Given the description of an element on the screen output the (x, y) to click on. 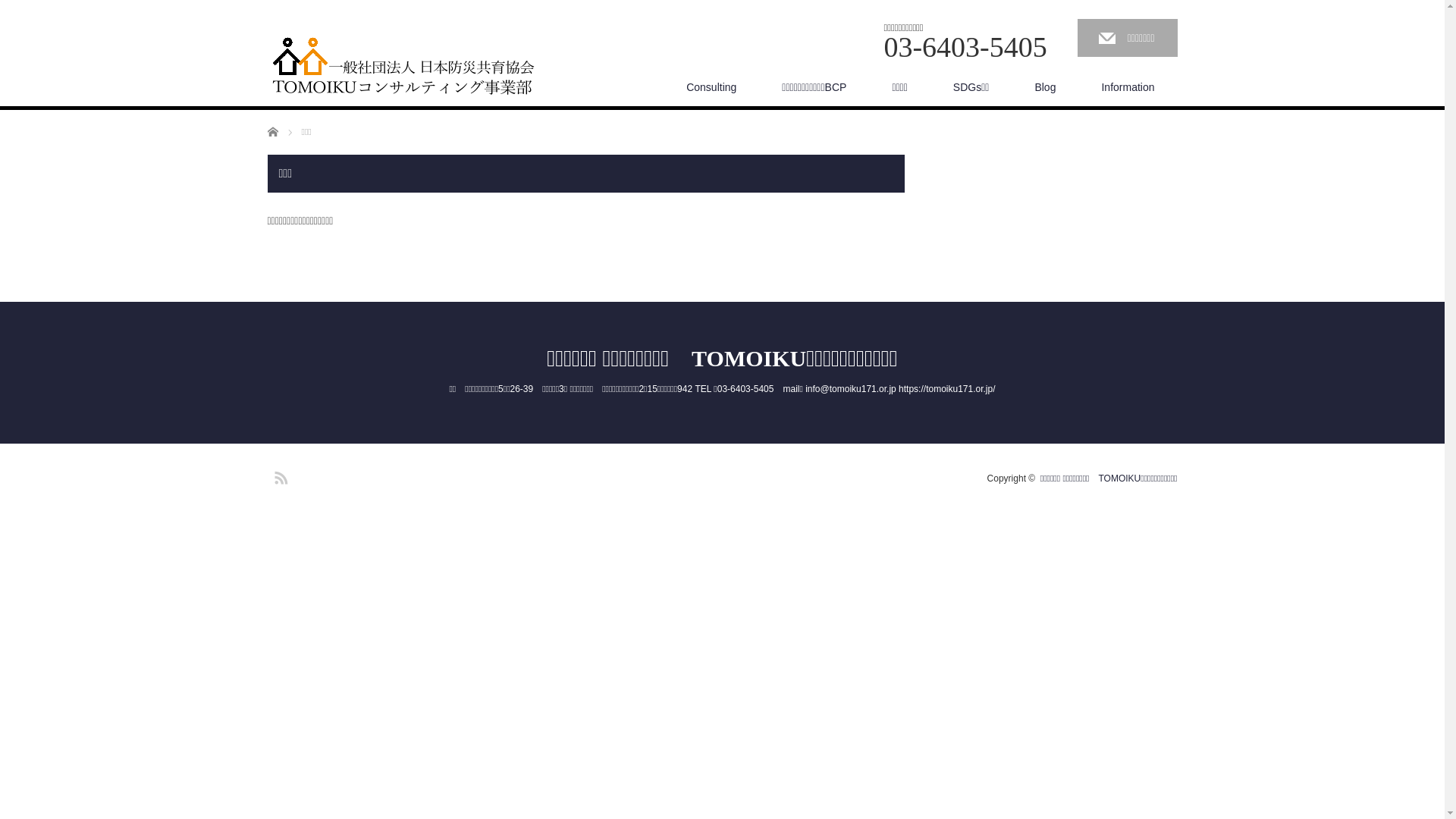
Information Element type: text (1127, 87)
Blog Element type: text (1044, 87)
Consulting Element type: text (711, 87)
RSS Element type: text (277, 475)
